Given the description of an element on the screen output the (x, y) to click on. 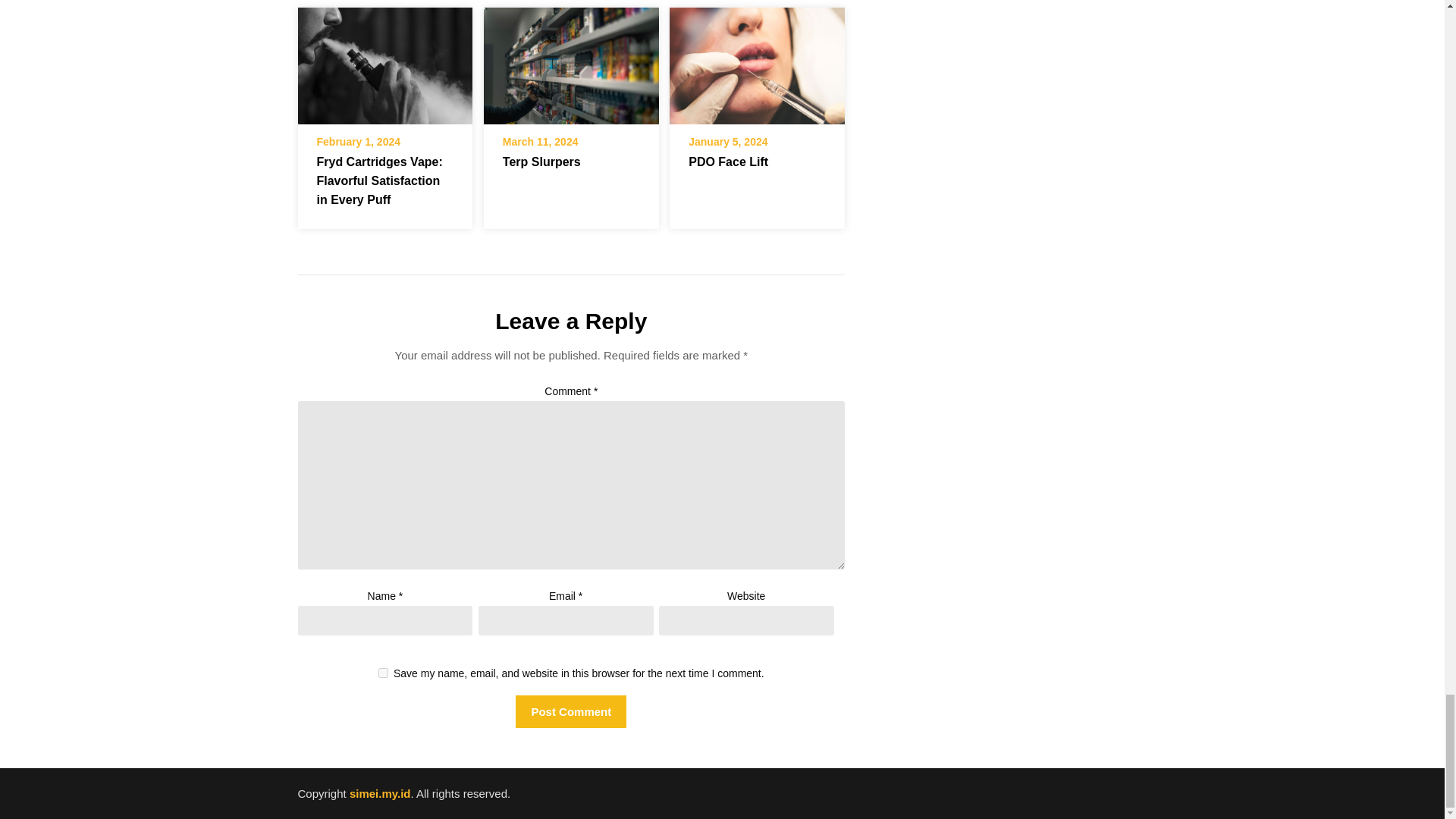
yes (383, 673)
PDO Face Lift (756, 65)
Terp Slurpers (571, 65)
Fryd Cartridges Vape: Flavorful Satisfaction in Every Puff (384, 65)
Post Comment (570, 711)
Terp Slurpers (541, 161)
Terp Slurpers (571, 60)
PDO Face Lift (728, 161)
Post Comment (570, 711)
PDO Face Lift (756, 60)
